Given the description of an element on the screen output the (x, y) to click on. 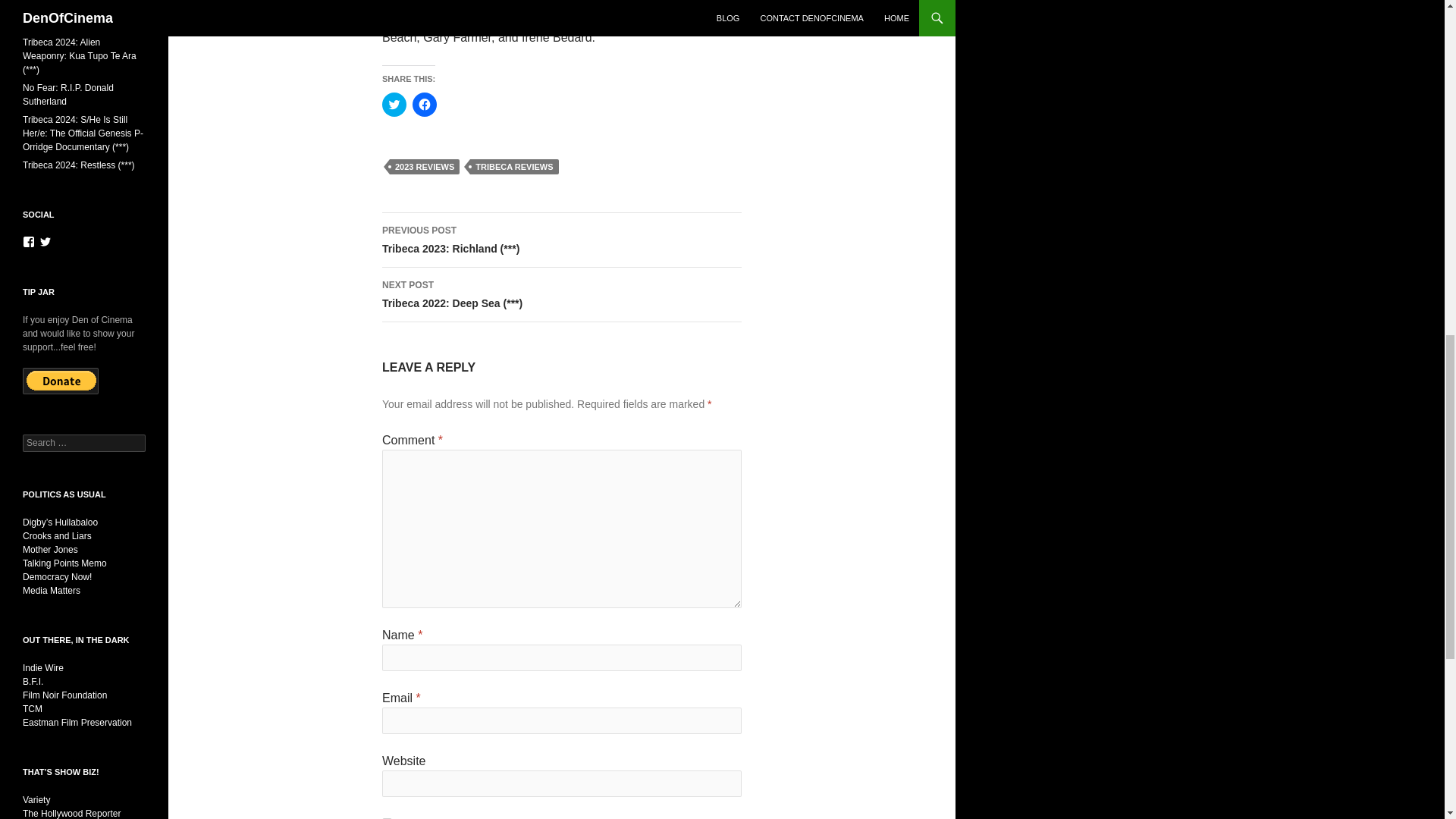
2023 REVIEWS (425, 166)
Click to share on Twitter (393, 104)
Click to share on Facebook (424, 104)
TRIBECA REVIEWS (513, 166)
